Given the description of an element on the screen output the (x, y) to click on. 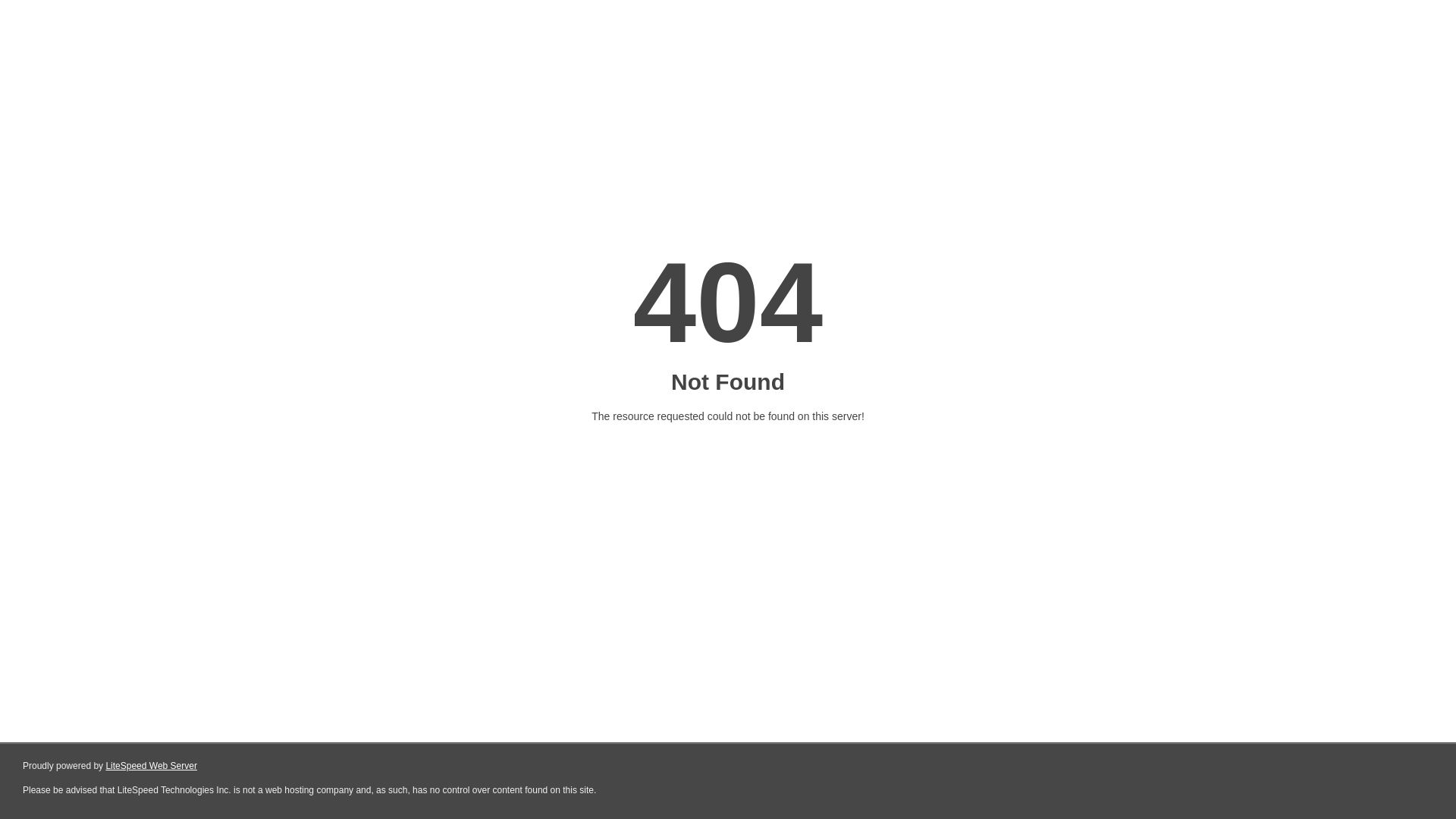
LiteSpeed Web Server Element type: text (151, 765)
